Given the description of an element on the screen output the (x, y) to click on. 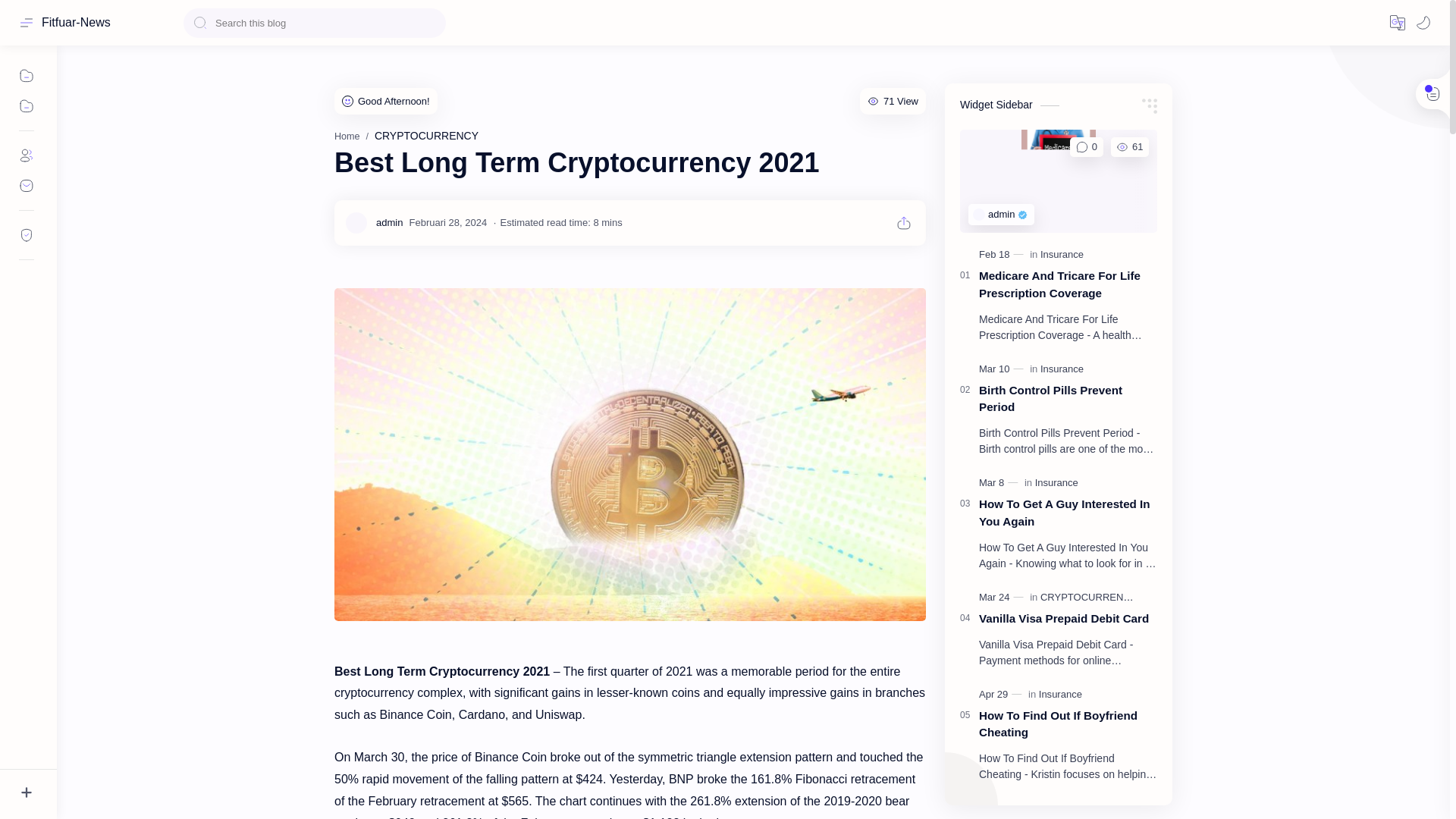
Published: Maret 8, 2024 (1000, 482)
Home (346, 136)
Published: Maret 24, 2024 (1002, 597)
Published: Maret 10, 2024 (1002, 368)
CRYPTOCURRENCY (426, 135)
Fitfuar-News (76, 22)
Published: April 29, 2024 (1001, 694)
Published: Februari 28, 2024 (447, 222)
Published: Februari 18, 2024 (1002, 254)
